Given the description of an element on the screen output the (x, y) to click on. 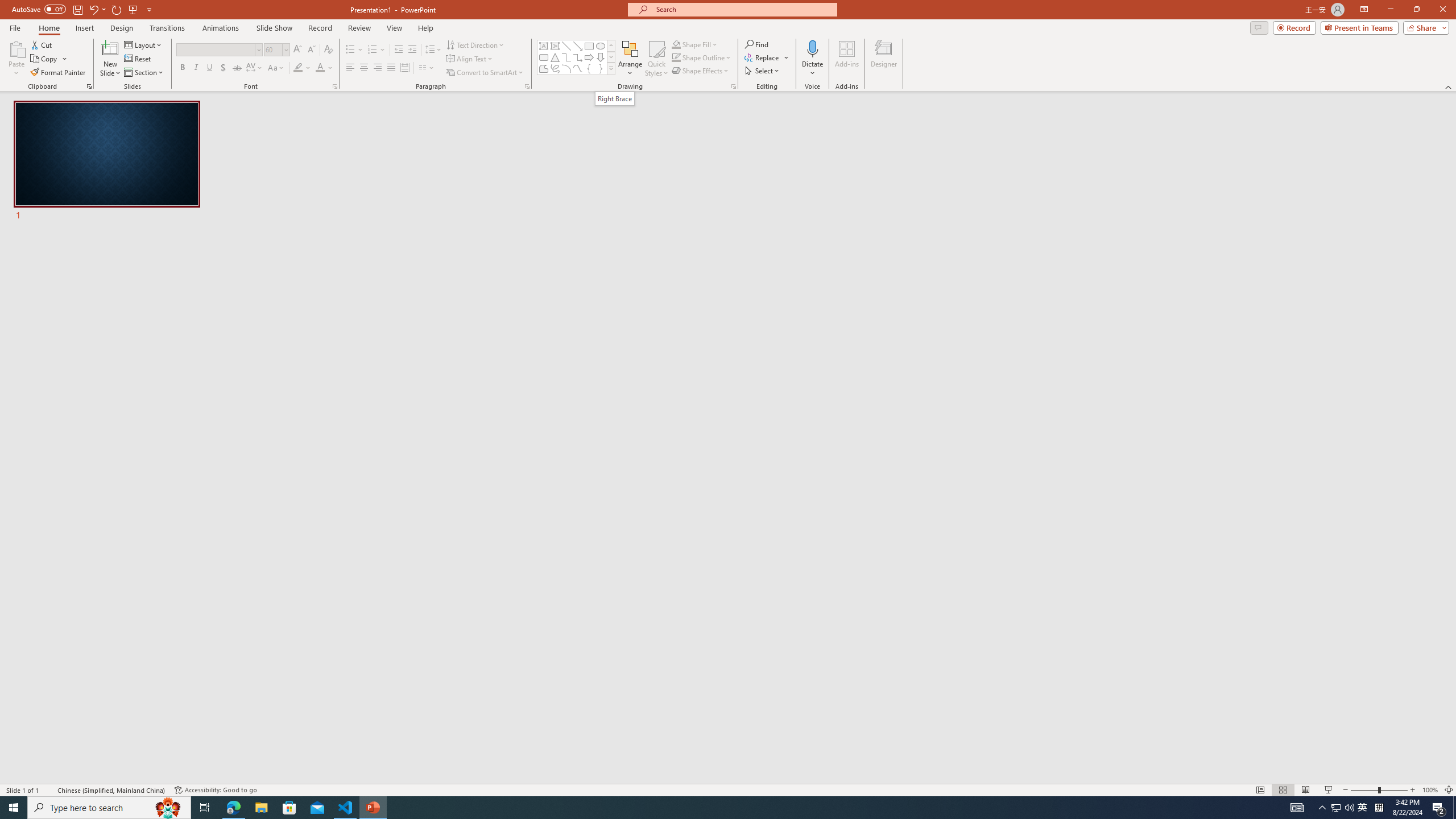
Font... (334, 85)
Justify (390, 67)
